Given the description of an element on the screen output the (x, y) to click on. 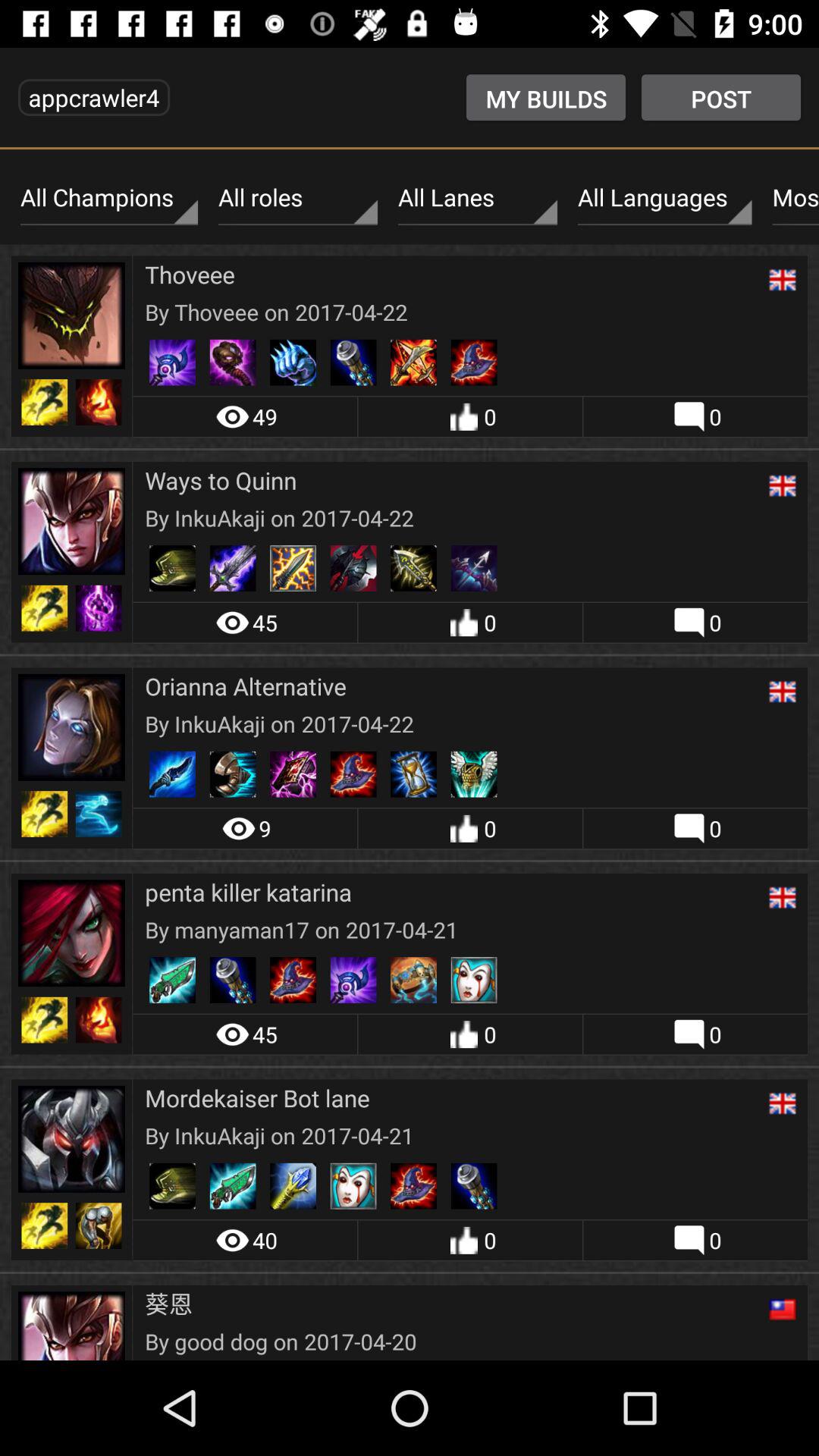
swipe until all languages icon (664, 198)
